Given the description of an element on the screen output the (x, y) to click on. 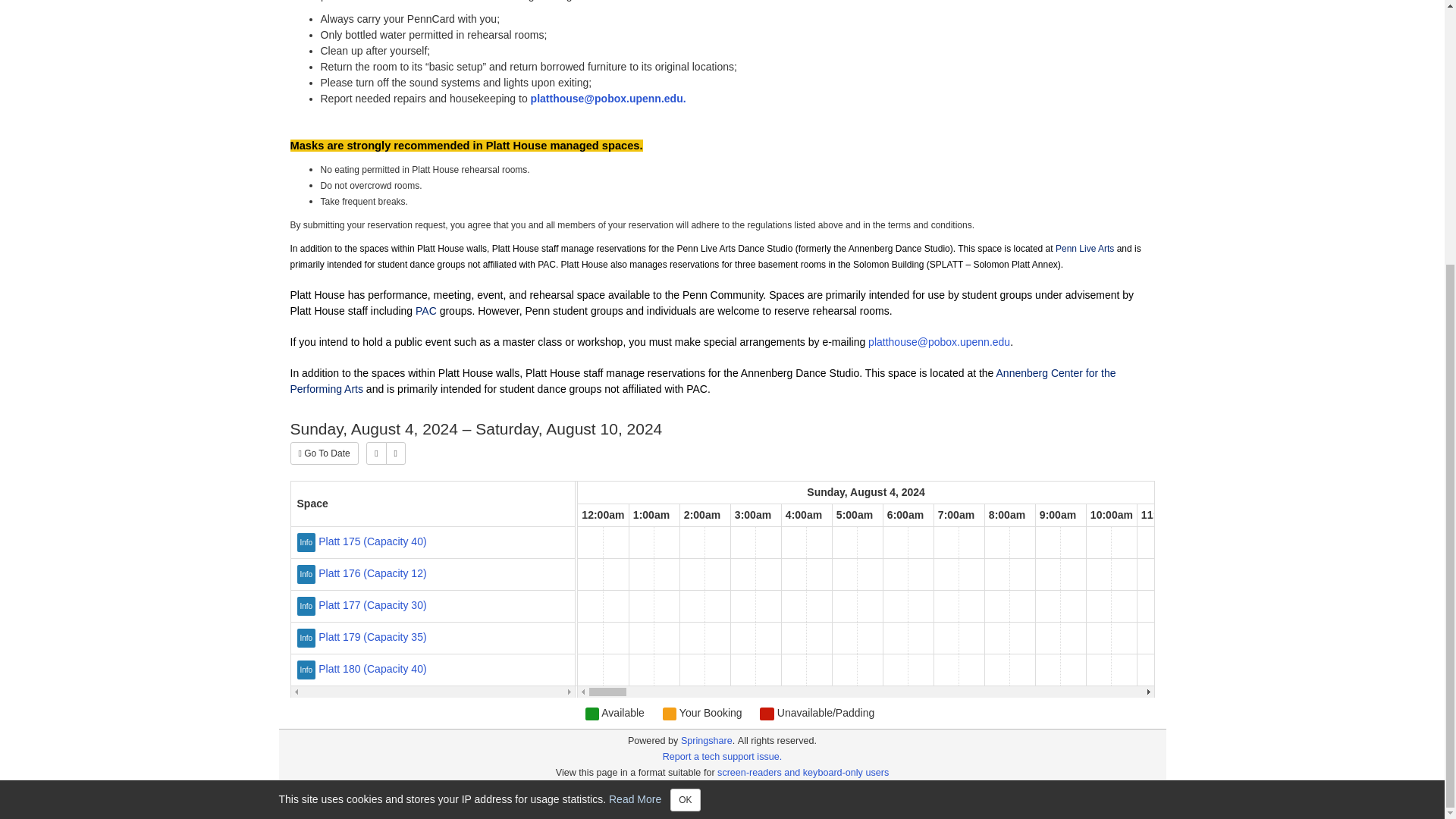
6:00am (905, 515)
Info (307, 636)
Penn Live Arts (1084, 248)
12:00am (602, 515)
Space (433, 504)
10:00am (1111, 515)
5:00am (854, 515)
Info (307, 668)
Go To Date (323, 453)
Sunday, August 4, 2024 (865, 492)
Space (433, 504)
2:00pm (1312, 515)
Info (307, 573)
